Given the description of an element on the screen output the (x, y) to click on. 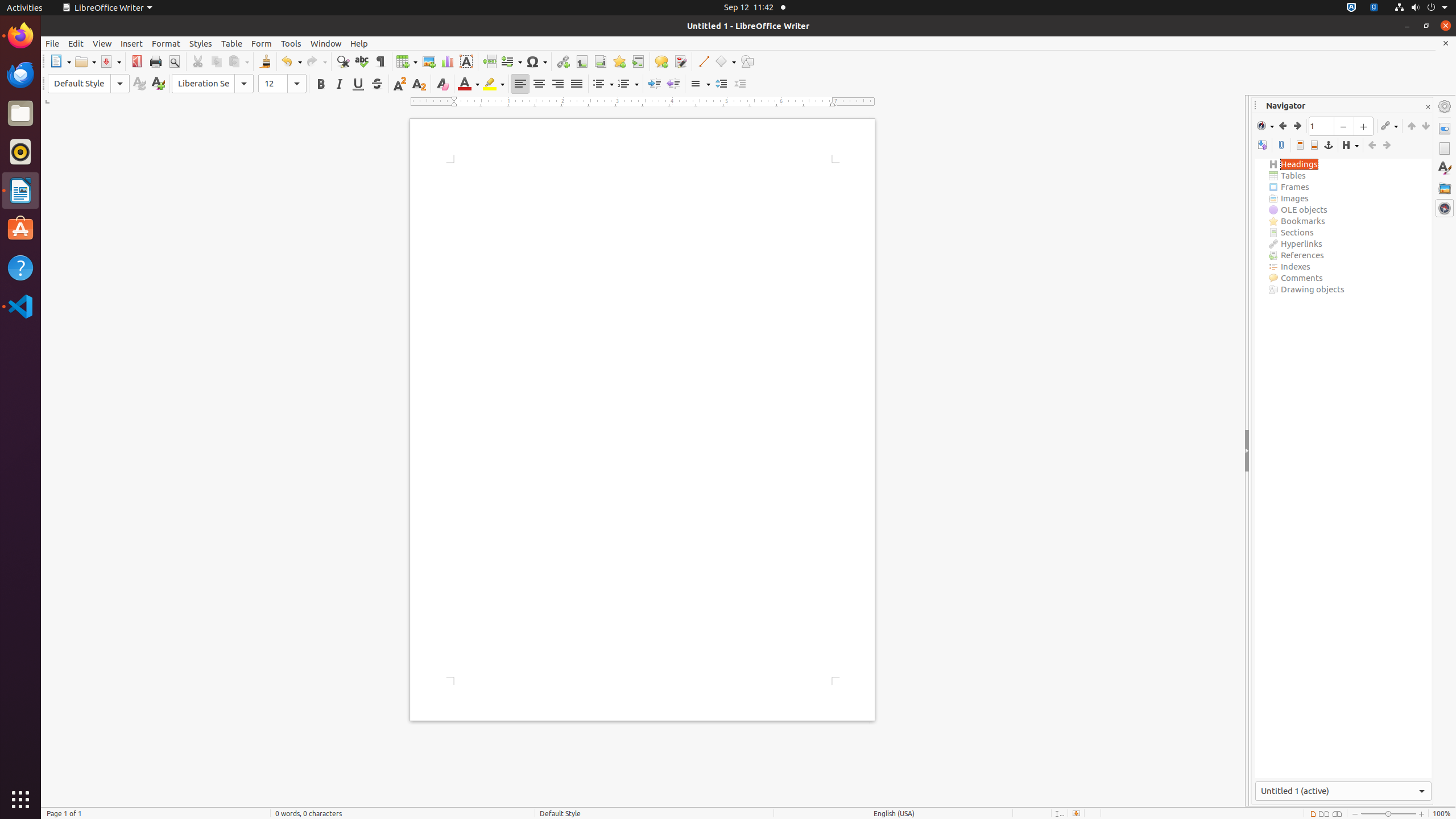
Font Name Element type: combo-box (212, 83)
Horizontal Ruler Element type: ruler (642, 101)
Bullets Element type: push-button (602, 83)
Highlight Color Element type: push-button (493, 83)
LibreOffice Writer Element type: menu (106, 7)
